Given the description of an element on the screen output the (x, y) to click on. 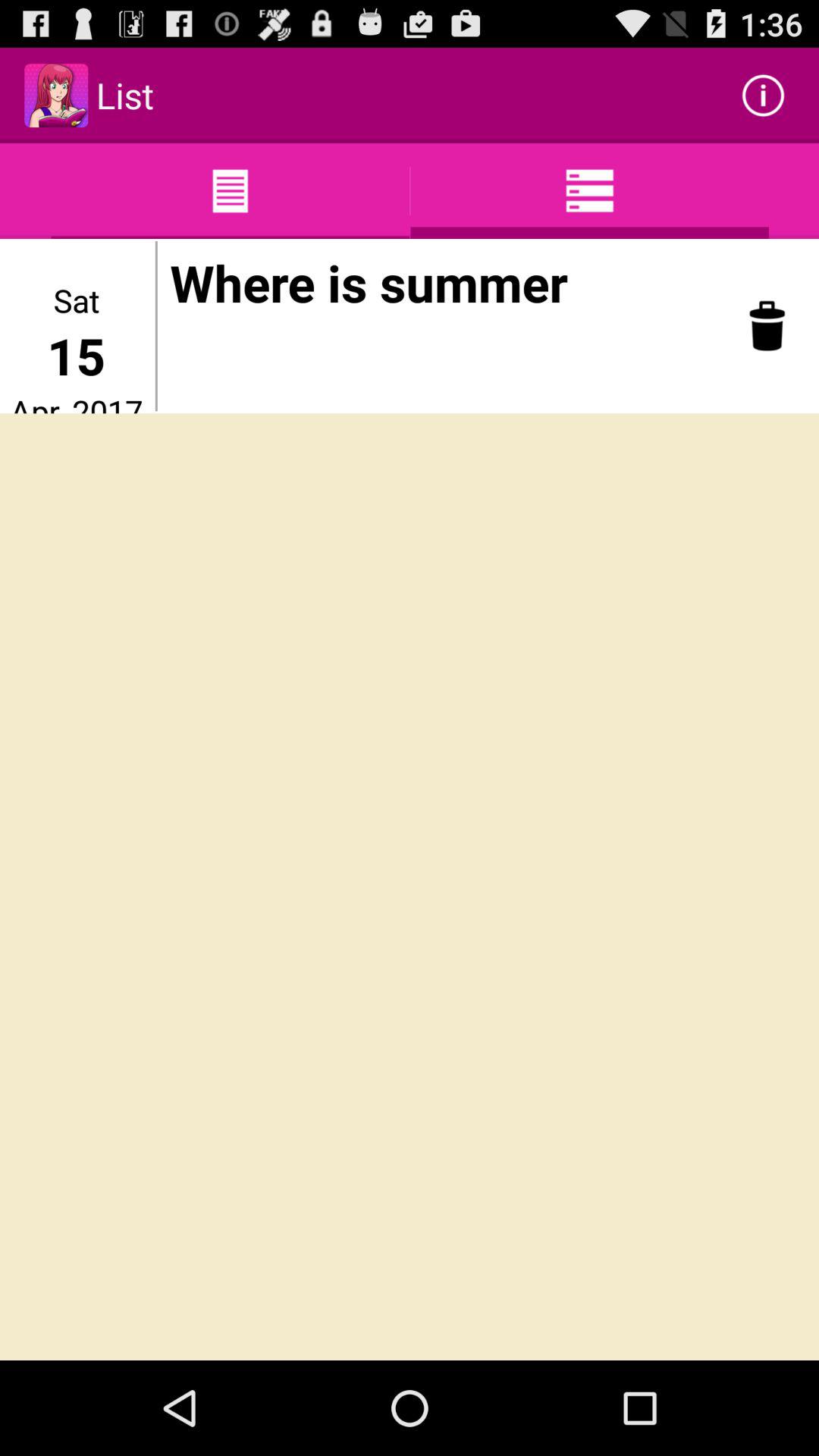
choose the 15 (76, 355)
